Given the description of an element on the screen output the (x, y) to click on. 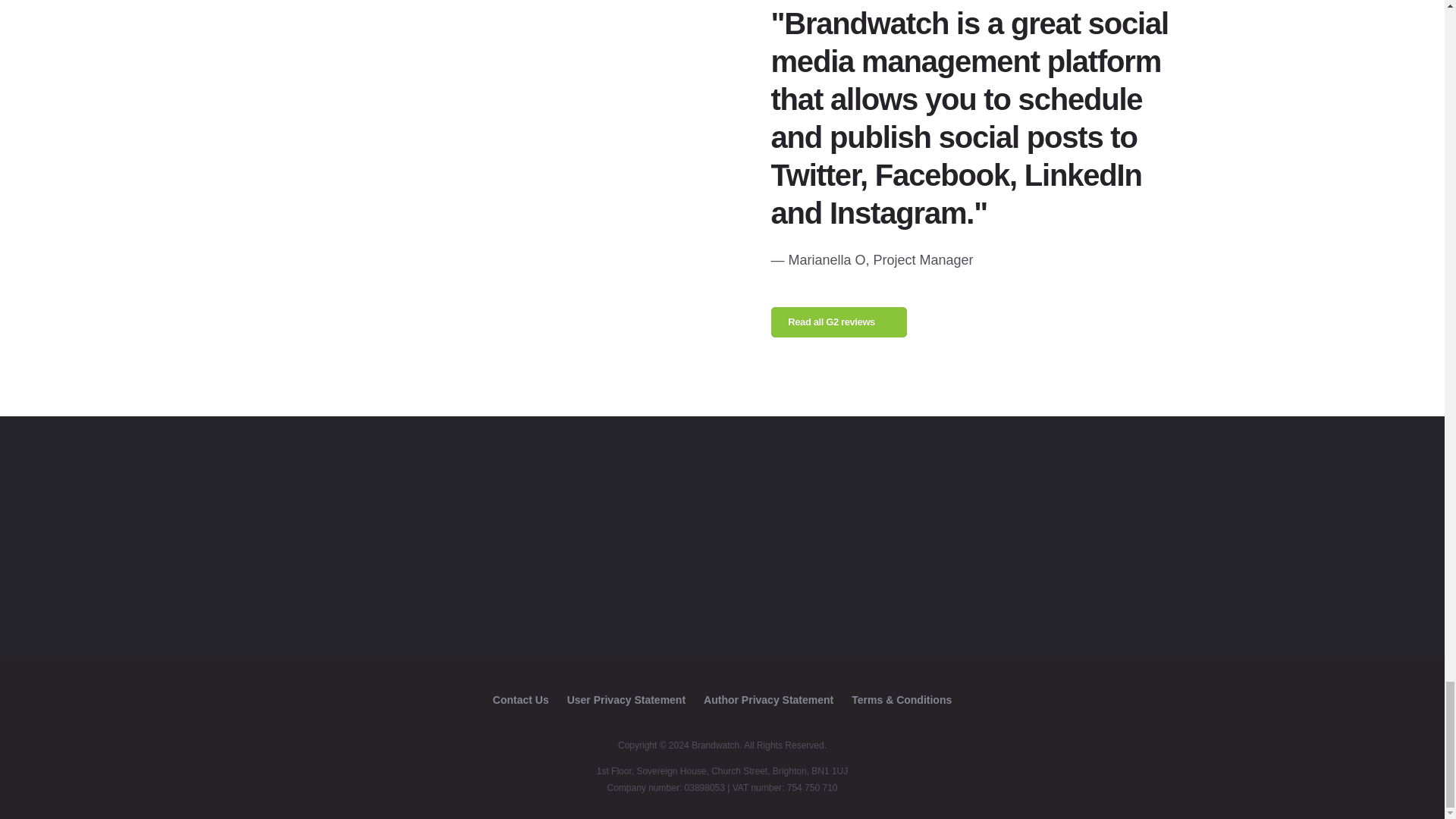
Author Privacy Statement (767, 699)
Read all G2 reviews (838, 322)
Contact Us (520, 699)
User Privacy Statement (626, 699)
